Given the description of an element on the screen output the (x, y) to click on. 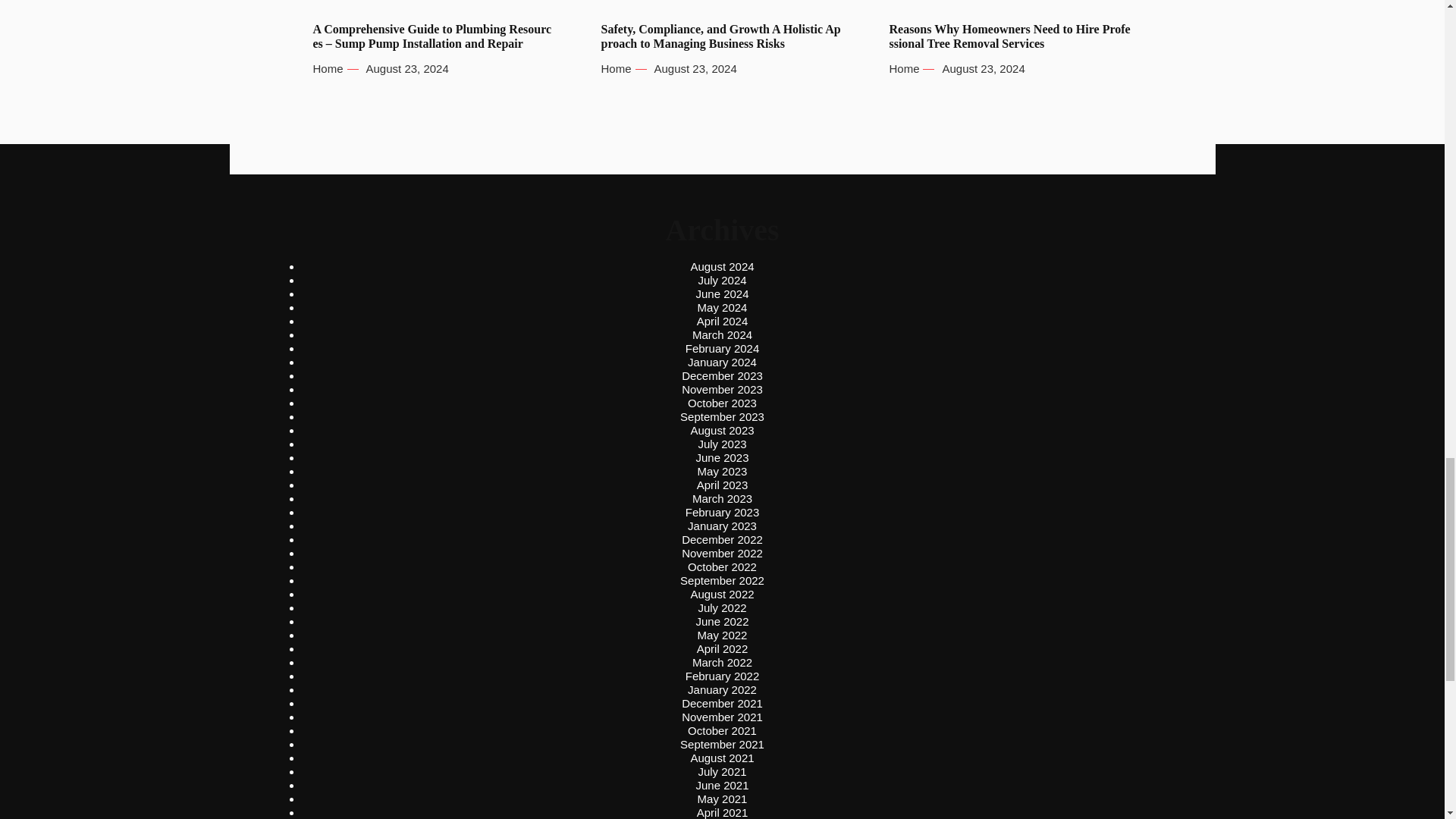
August 23, 2024 (407, 69)
Home (327, 69)
